Given the description of an element on the screen output the (x, y) to click on. 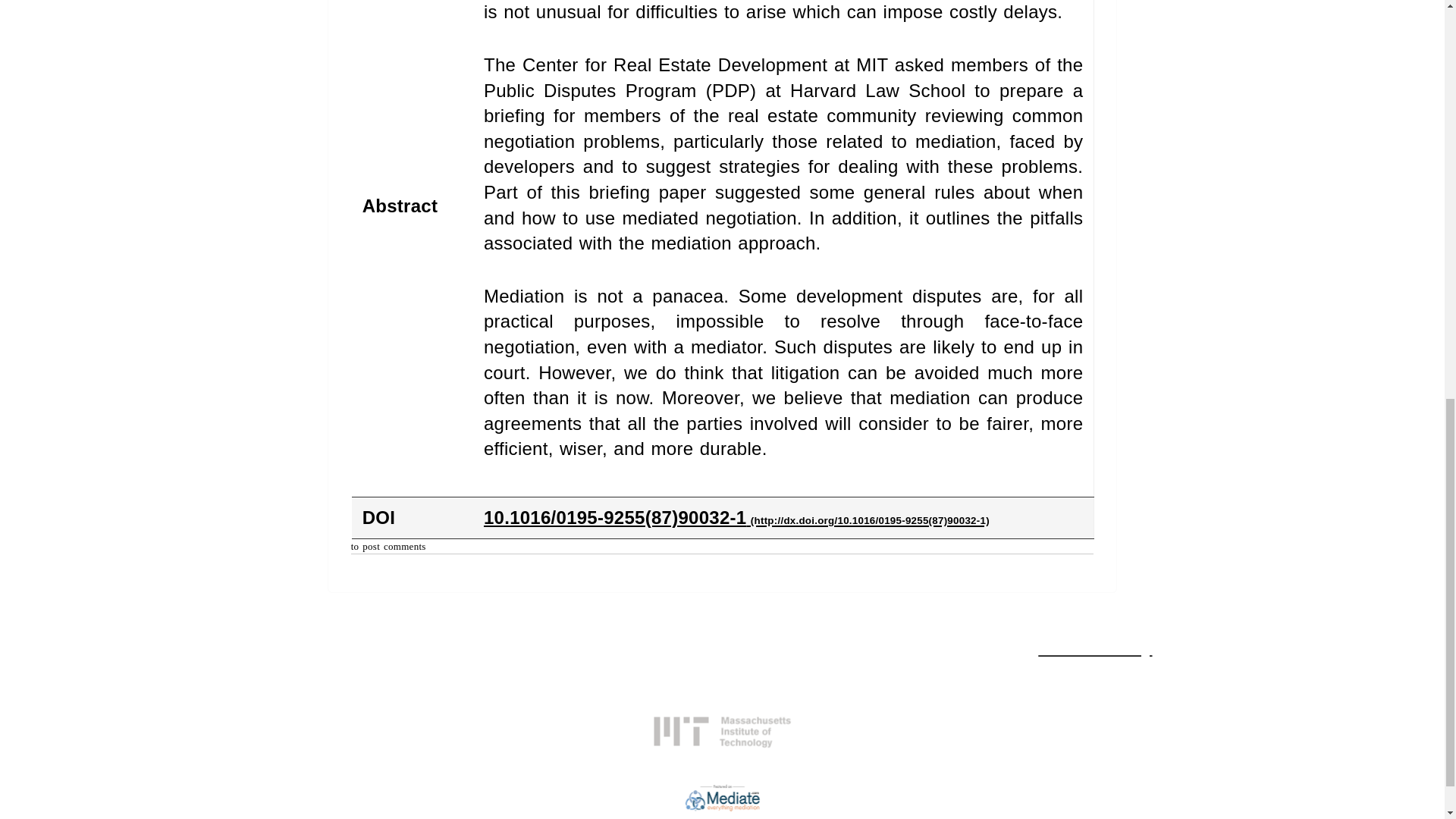
Accessibility (1094, 647)
